Given the description of an element on the screen output the (x, y) to click on. 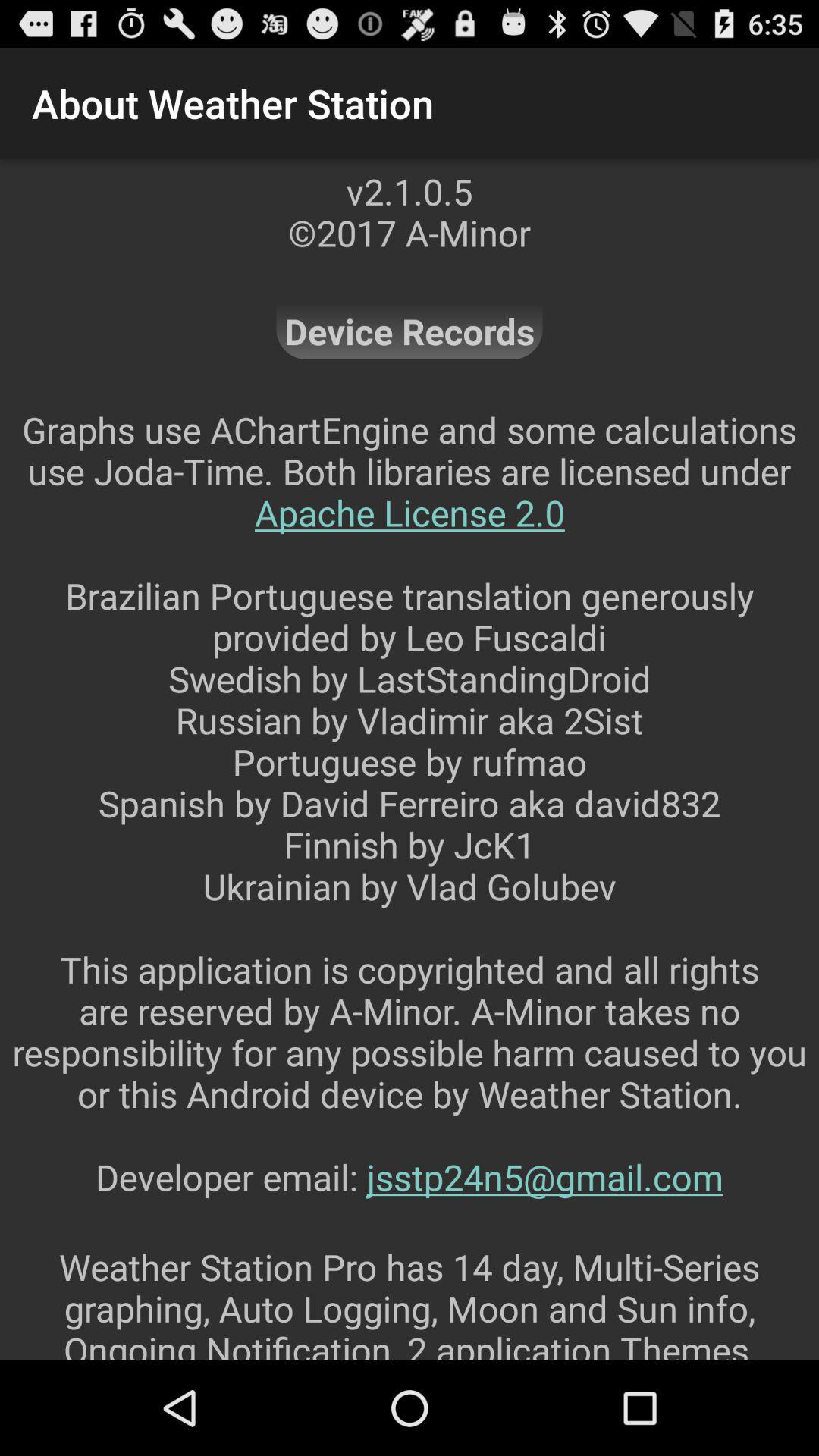
click the app below v2 1 0 (409, 331)
